Given the description of an element on the screen output the (x, y) to click on. 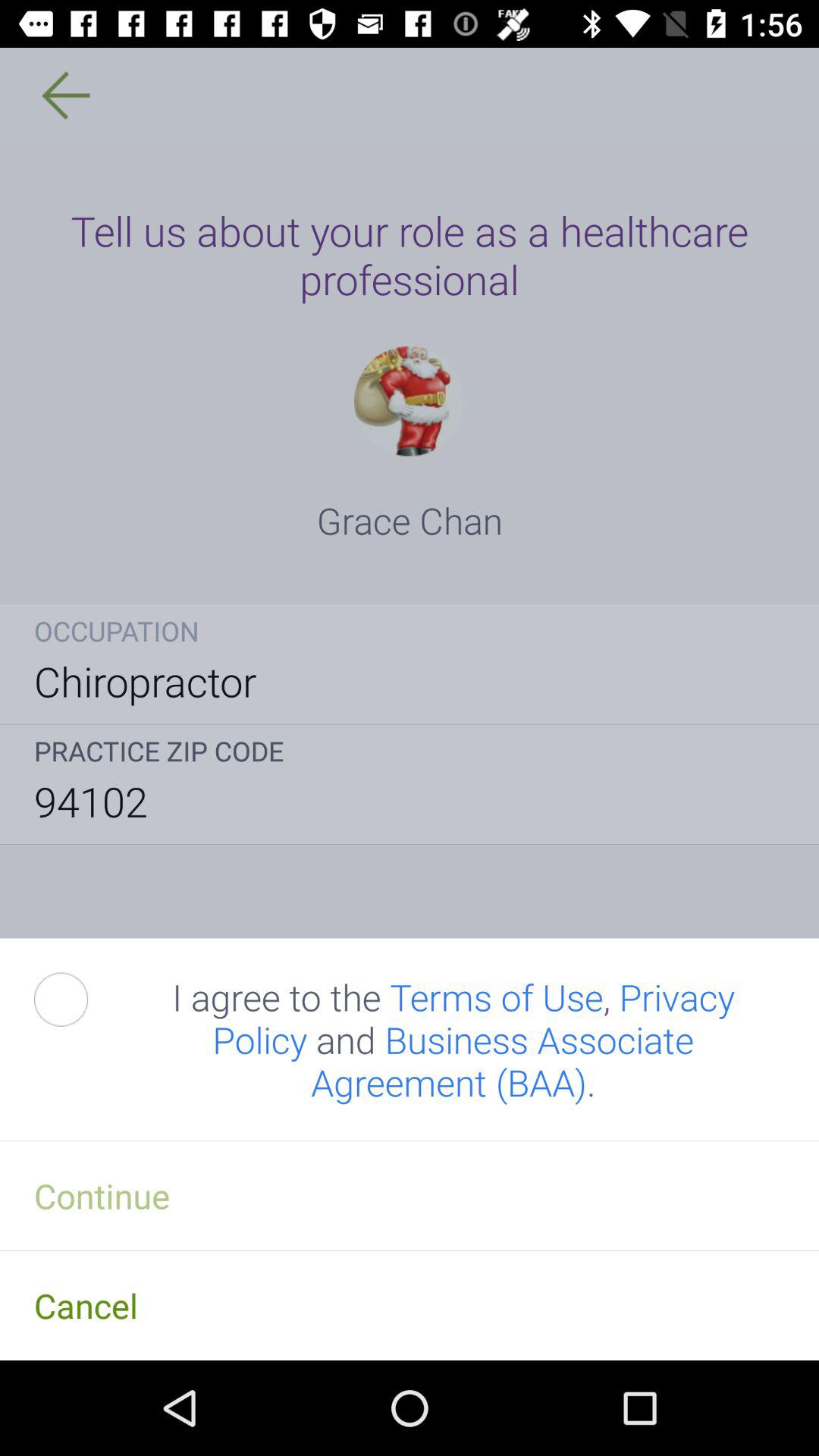
flip to the continue icon (409, 1195)
